Given the description of an element on the screen output the (x, y) to click on. 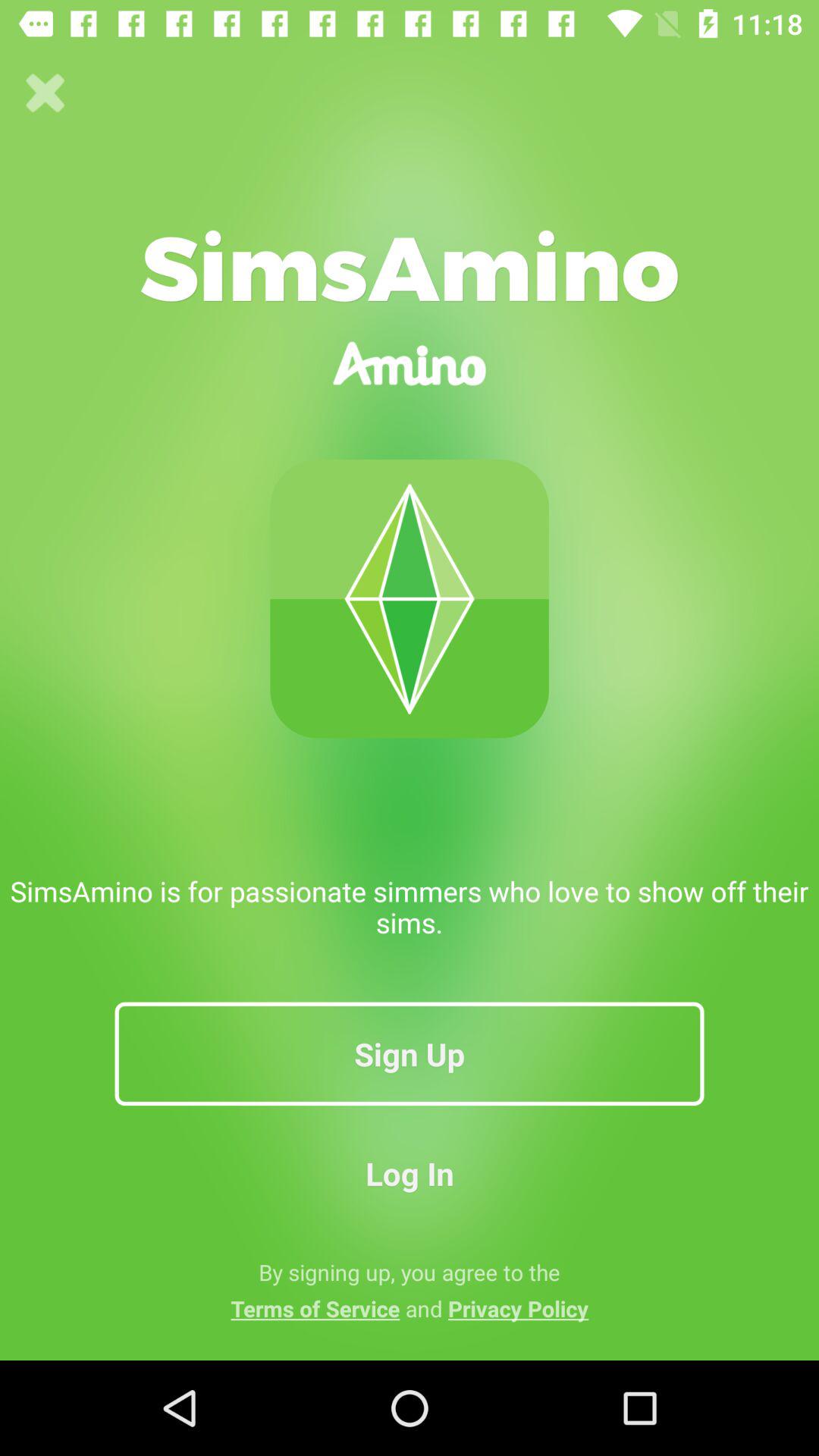
launch icon above by signing up app (409, 1173)
